Given the description of an element on the screen output the (x, y) to click on. 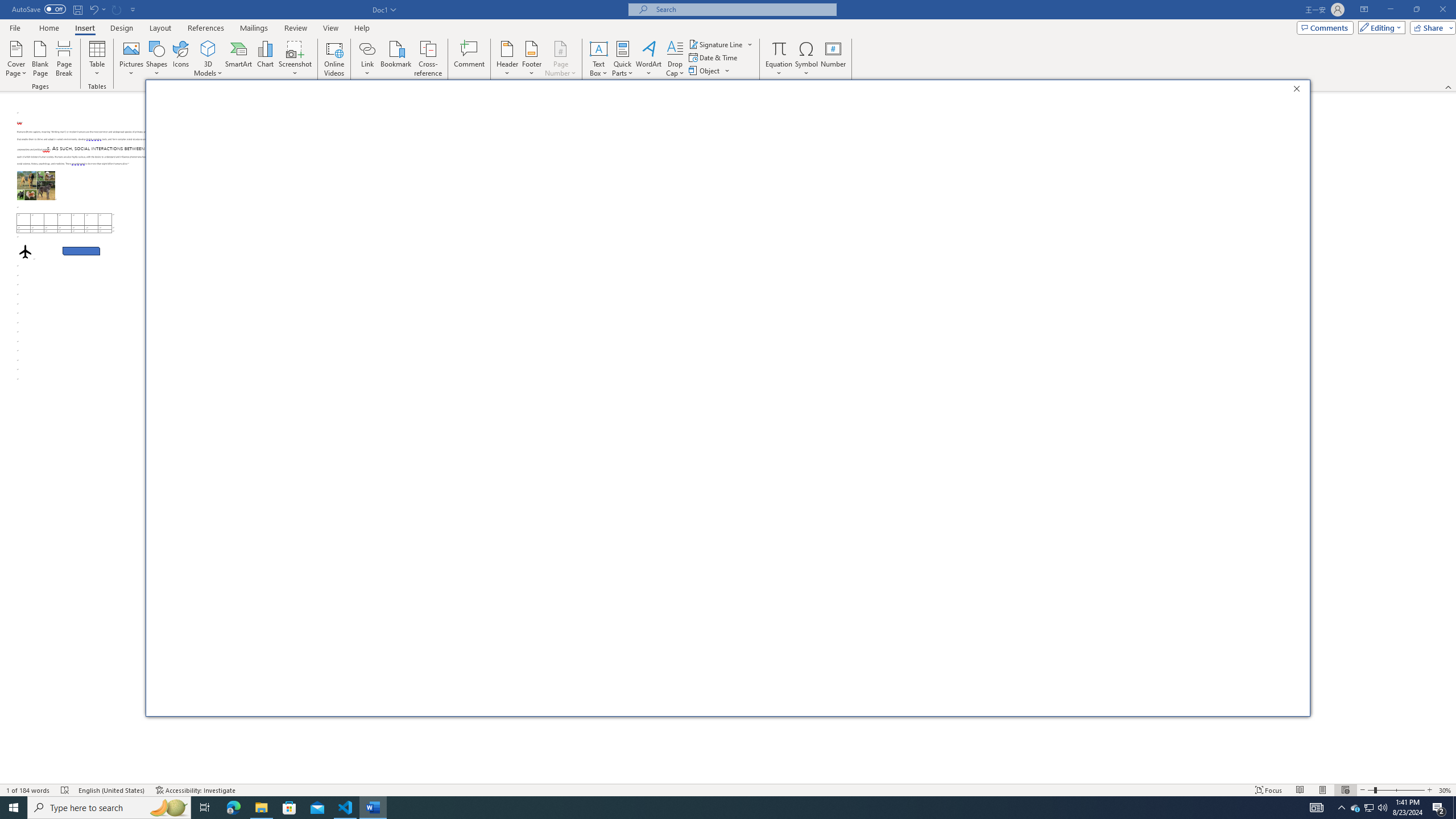
Table (97, 58)
Visual Studio Code - 1 running window (345, 807)
Page Break (63, 58)
Send a Smile (1251, 114)
Text Box (598, 58)
Comment (469, 58)
Object... (705, 69)
Start (13, 807)
